Given the description of an element on the screen output the (x, y) to click on. 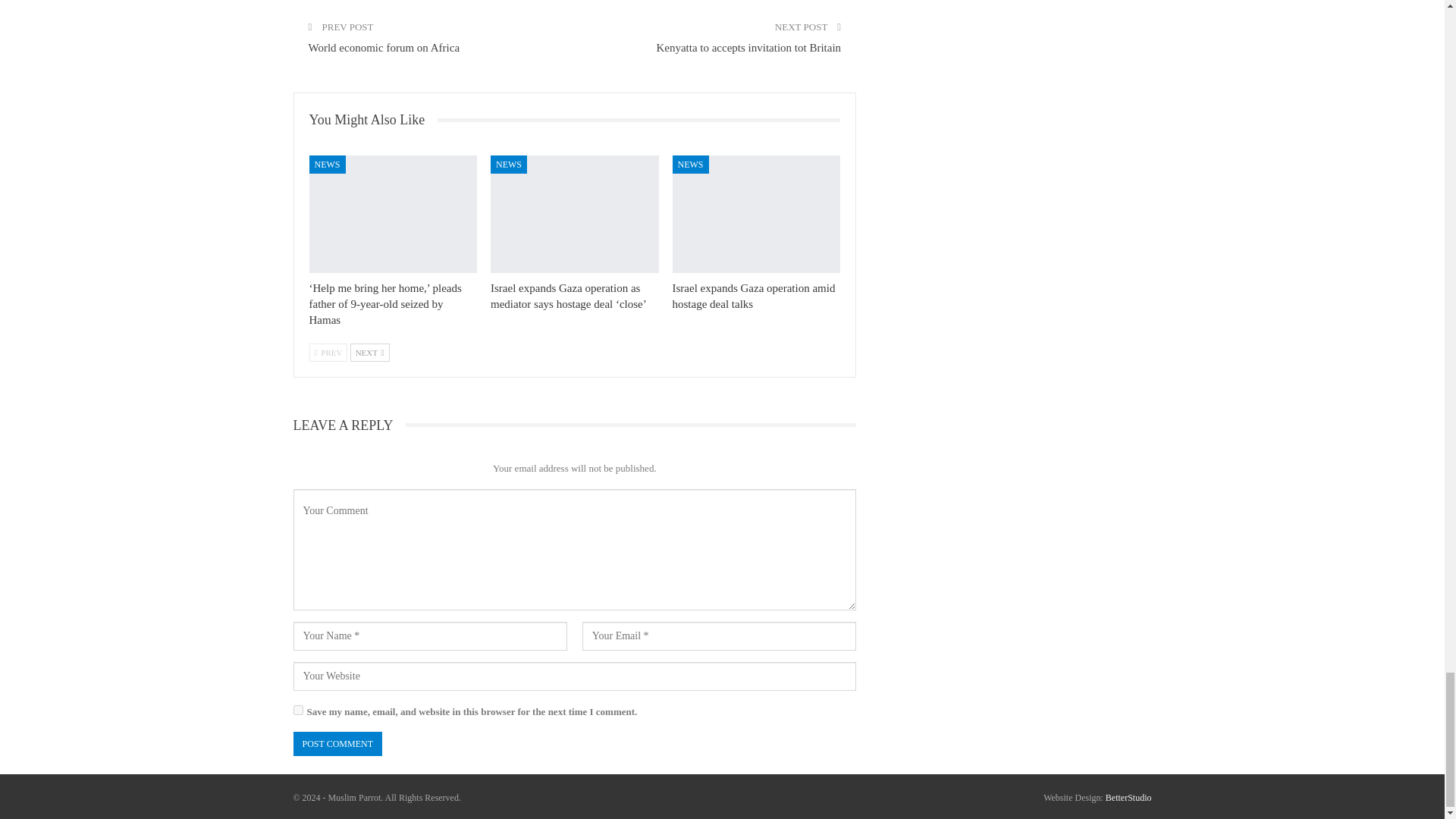
Israel expands Gaza operation amid hostage deal talks (756, 213)
yes (297, 709)
Israel expands Gaza operation amid hostage deal talks (753, 295)
Post Comment (336, 744)
